Given the description of an element on the screen output the (x, y) to click on. 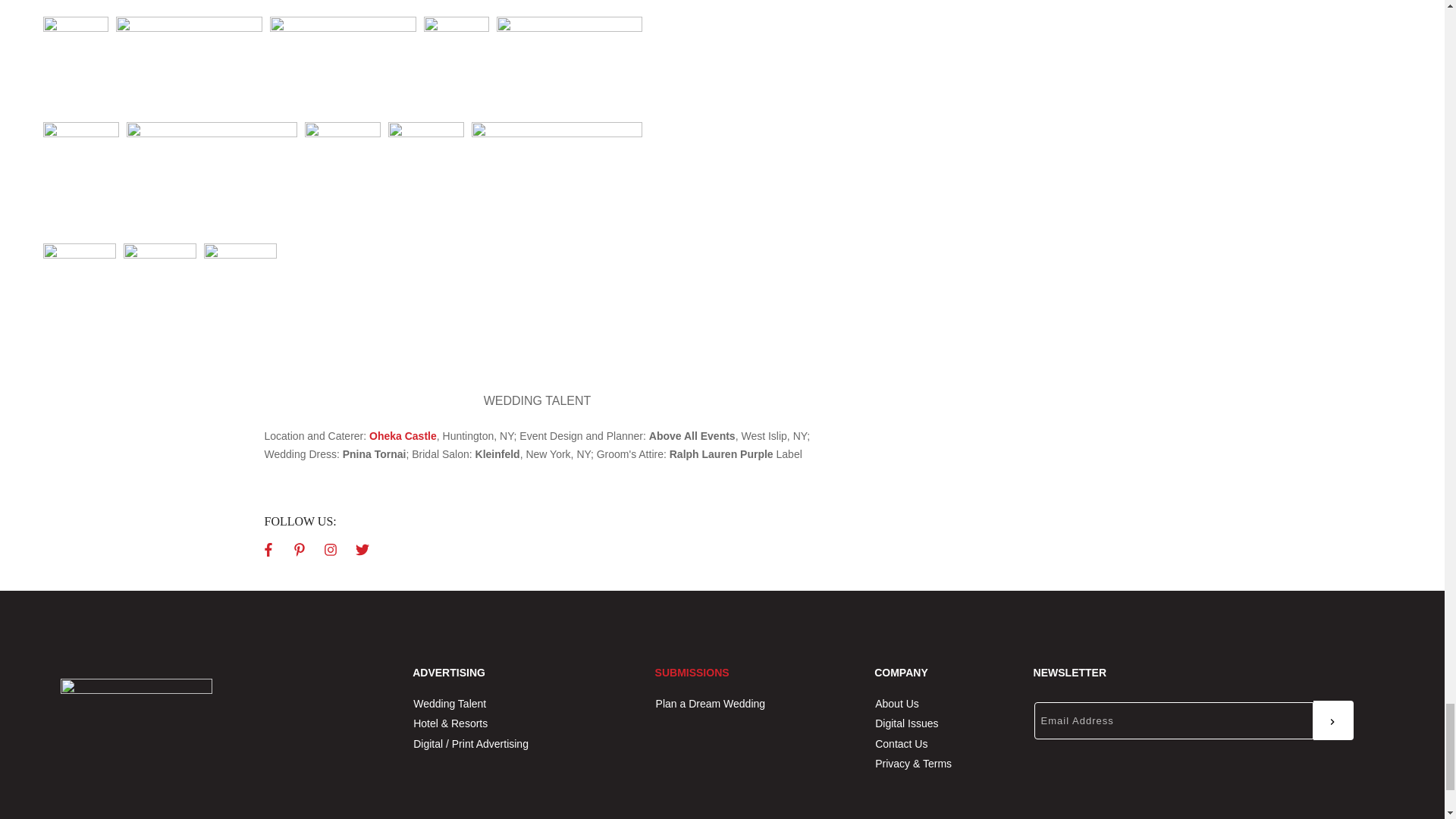
wedding-style-magazine-white-logo (136, 748)
